Given the description of an element on the screen output the (x, y) to click on. 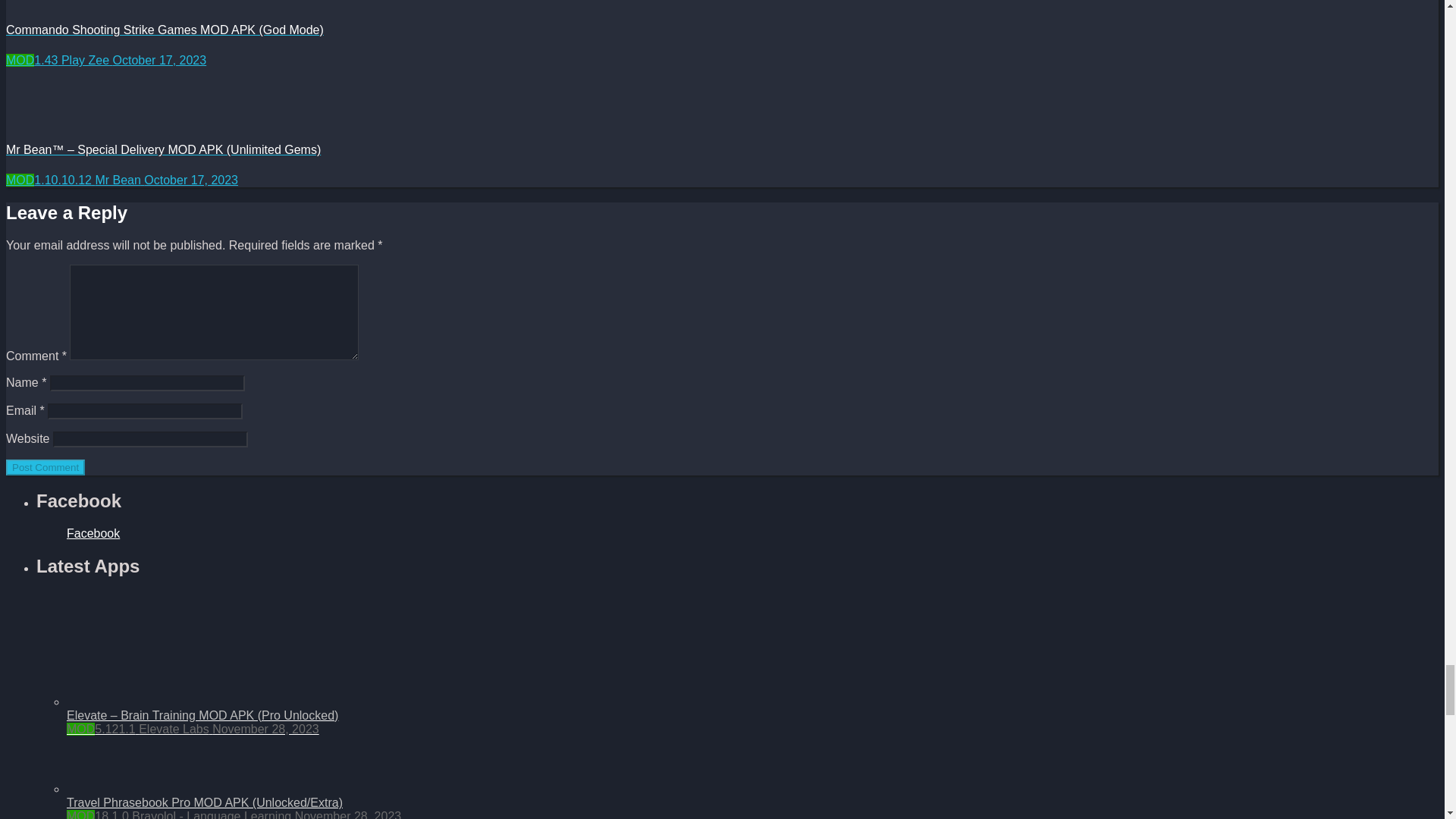
Post Comment (44, 467)
